Given the description of an element on the screen output the (x, y) to click on. 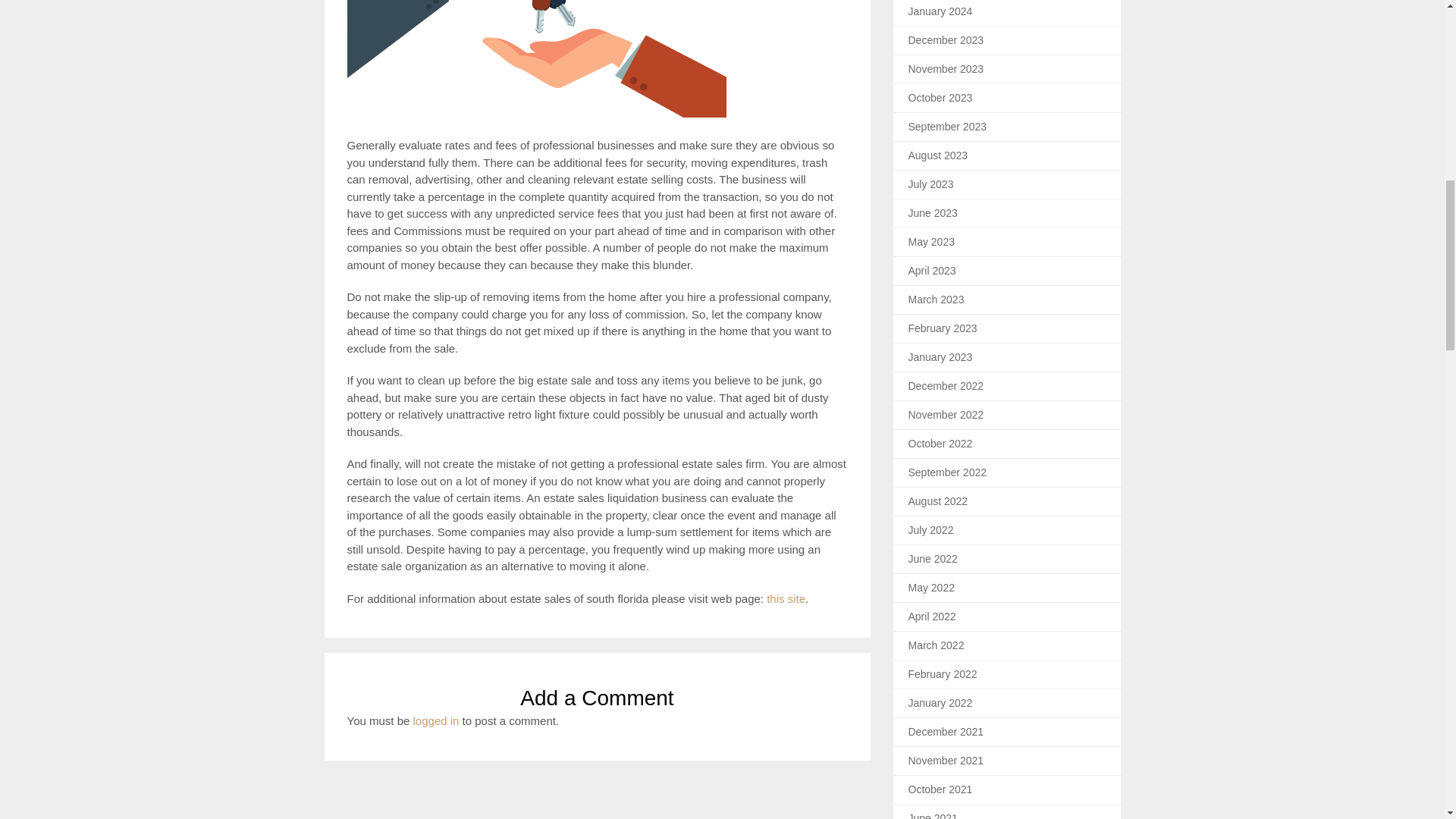
logged in (436, 720)
January 2023 (940, 357)
November 2023 (946, 69)
November 2022 (946, 414)
March 2023 (935, 299)
December 2022 (946, 386)
September 2023 (947, 126)
August 2022 (938, 500)
May 2023 (931, 241)
October 2023 (940, 97)
September 2022 (947, 472)
this site (786, 597)
June 2023 (933, 213)
December 2023 (946, 39)
February 2023 (942, 328)
